Given the description of an element on the screen output the (x, y) to click on. 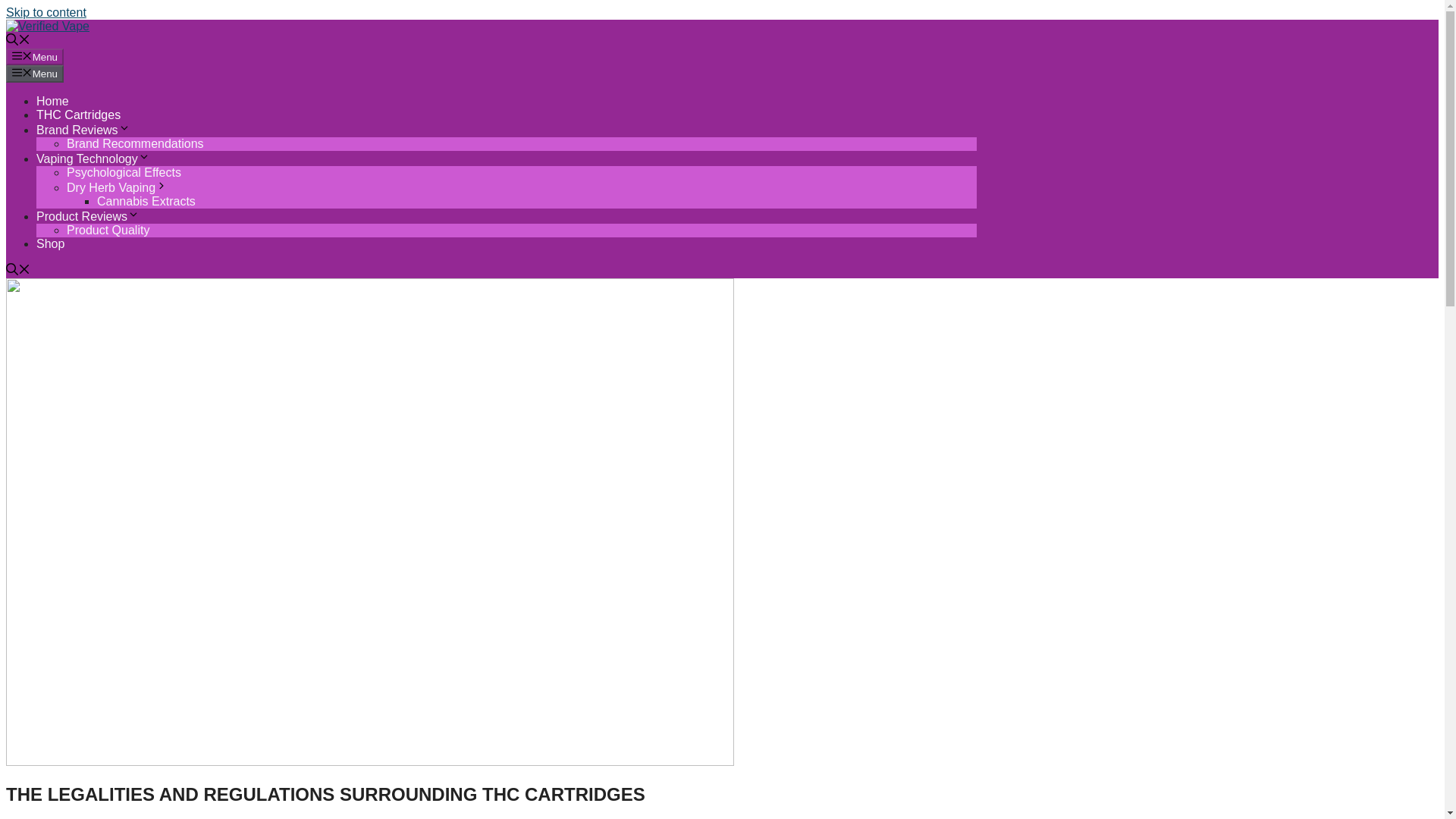
Shop (50, 243)
Dry Herb Vaping (116, 187)
Home (52, 101)
Product Reviews (87, 215)
Skip to content (45, 11)
Skip to content (45, 11)
Cannabis Extracts (146, 201)
Menu (34, 56)
Psychological Effects (123, 172)
Menu (34, 73)
Vaping Technology (92, 158)
Brand Reviews (83, 129)
Product Quality (107, 229)
THC Cartridges (78, 114)
Brand Recommendations (134, 143)
